Given the description of an element on the screen output the (x, y) to click on. 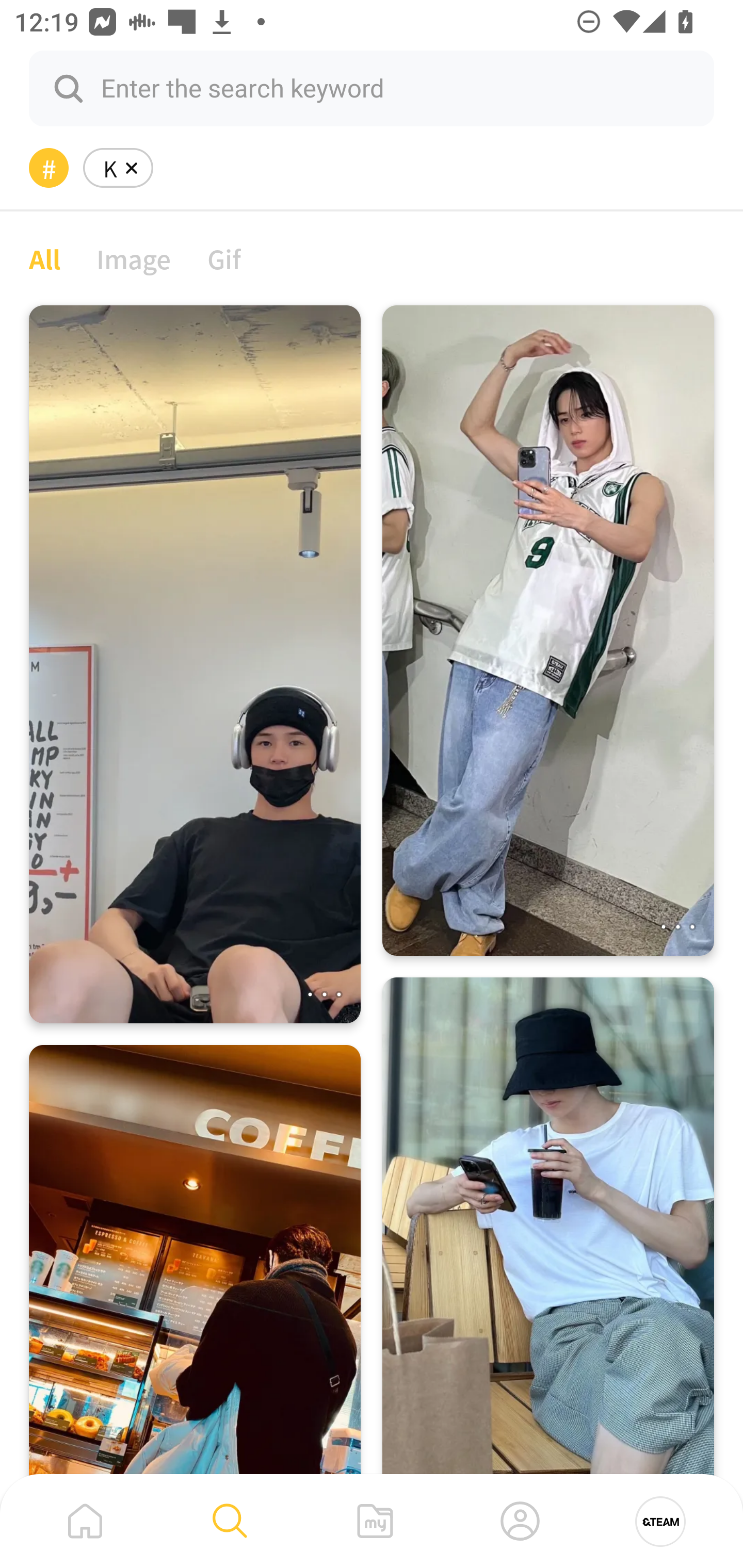
All (44, 257)
Image (133, 257)
Gif (223, 257)
